Given the description of an element on the screen output the (x, y) to click on. 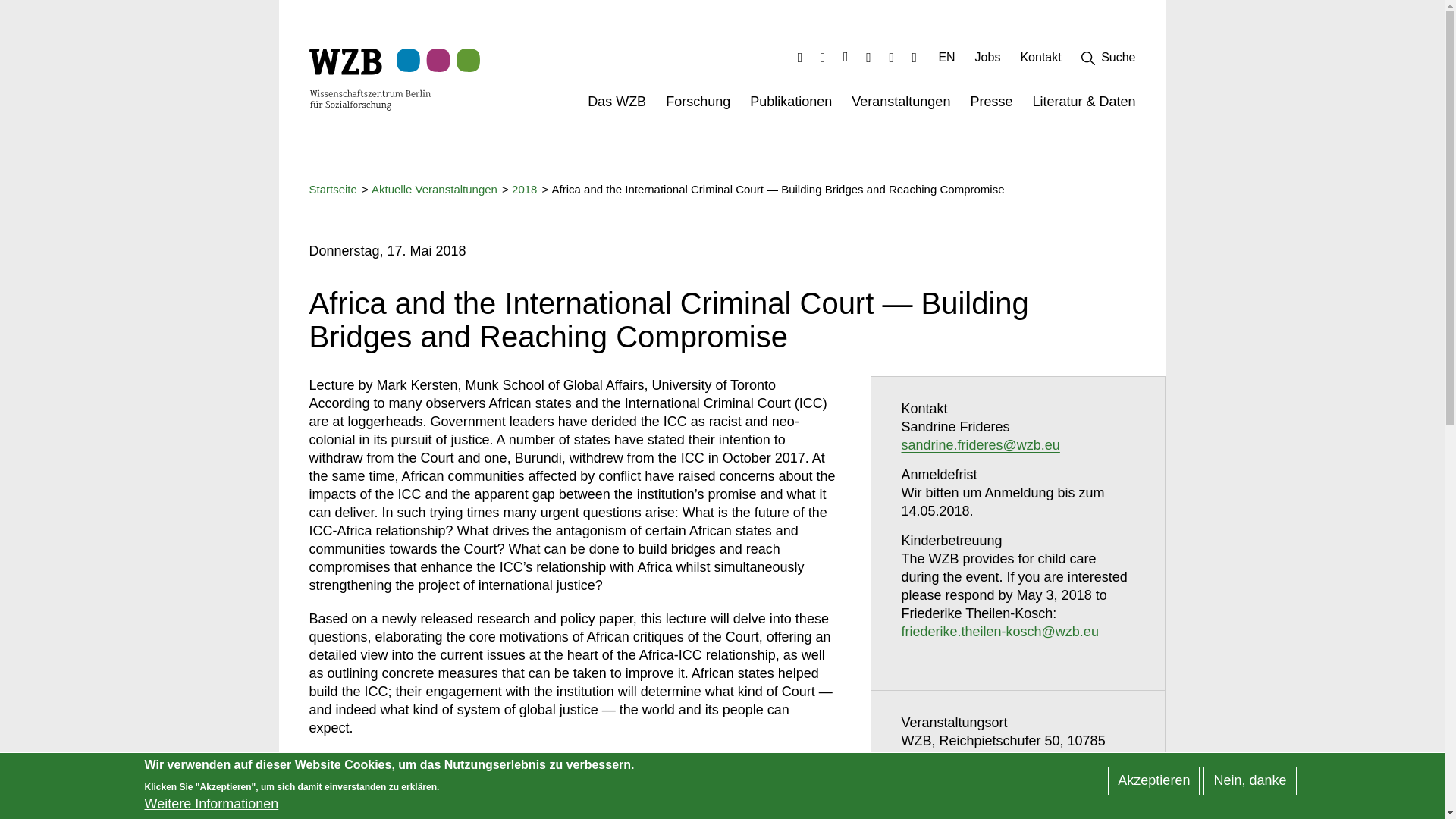
EN (945, 60)
Das WZB auf Youtube (868, 56)
Suche (1108, 60)
Stellenangebote am WZB (987, 60)
Youtube (868, 56)
Das WZB auf Instagram (845, 56)
WZB in leichter Sprache (890, 56)
Zu Englisch wechseln (945, 60)
Kontakt (1040, 60)
LinkedIn (800, 56)
X-Twitter (822, 56)
Leichte Sprache (890, 56)
Das WZB auf LinkedIn (800, 56)
Jobs (987, 60)
